Given the description of an element on the screen output the (x, y) to click on. 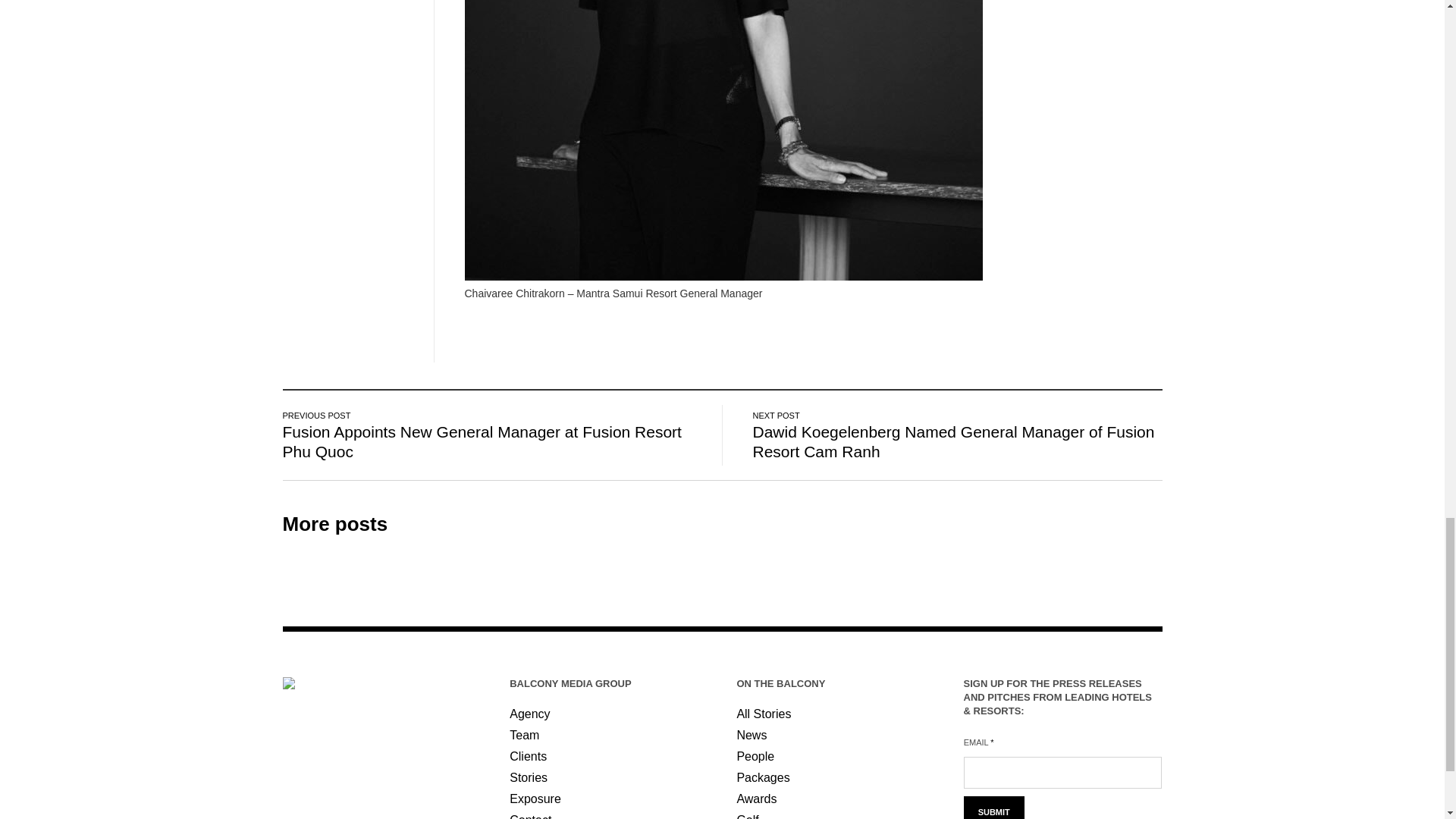
Contact (530, 816)
Exposure (534, 798)
Clients (528, 756)
Stories (528, 777)
Team (523, 735)
Agency (529, 713)
